Given the description of an element on the screen output the (x, y) to click on. 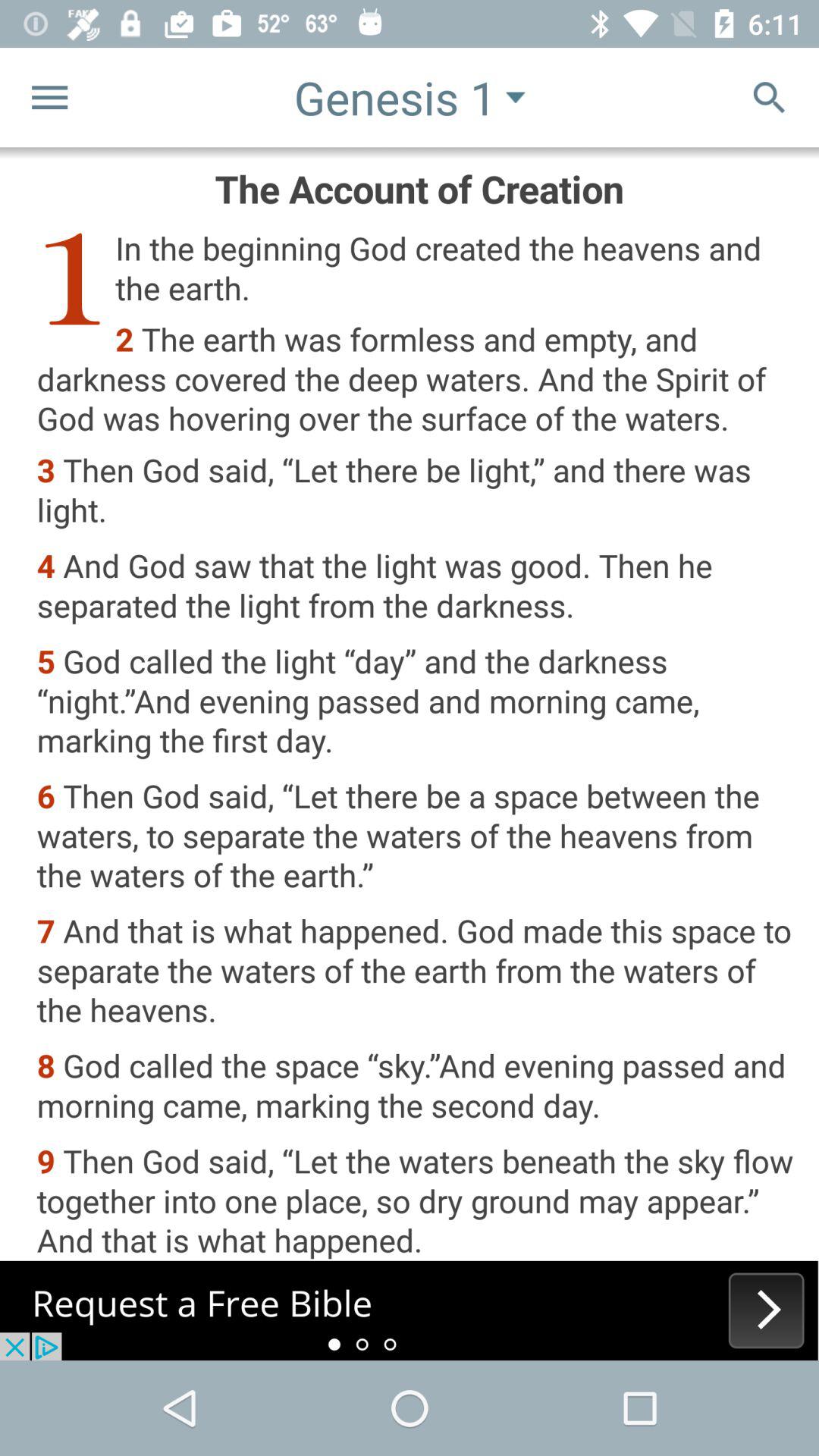
select the drop down which is beside genesis 1 (515, 98)
